Given the description of an element on the screen output the (x, y) to click on. 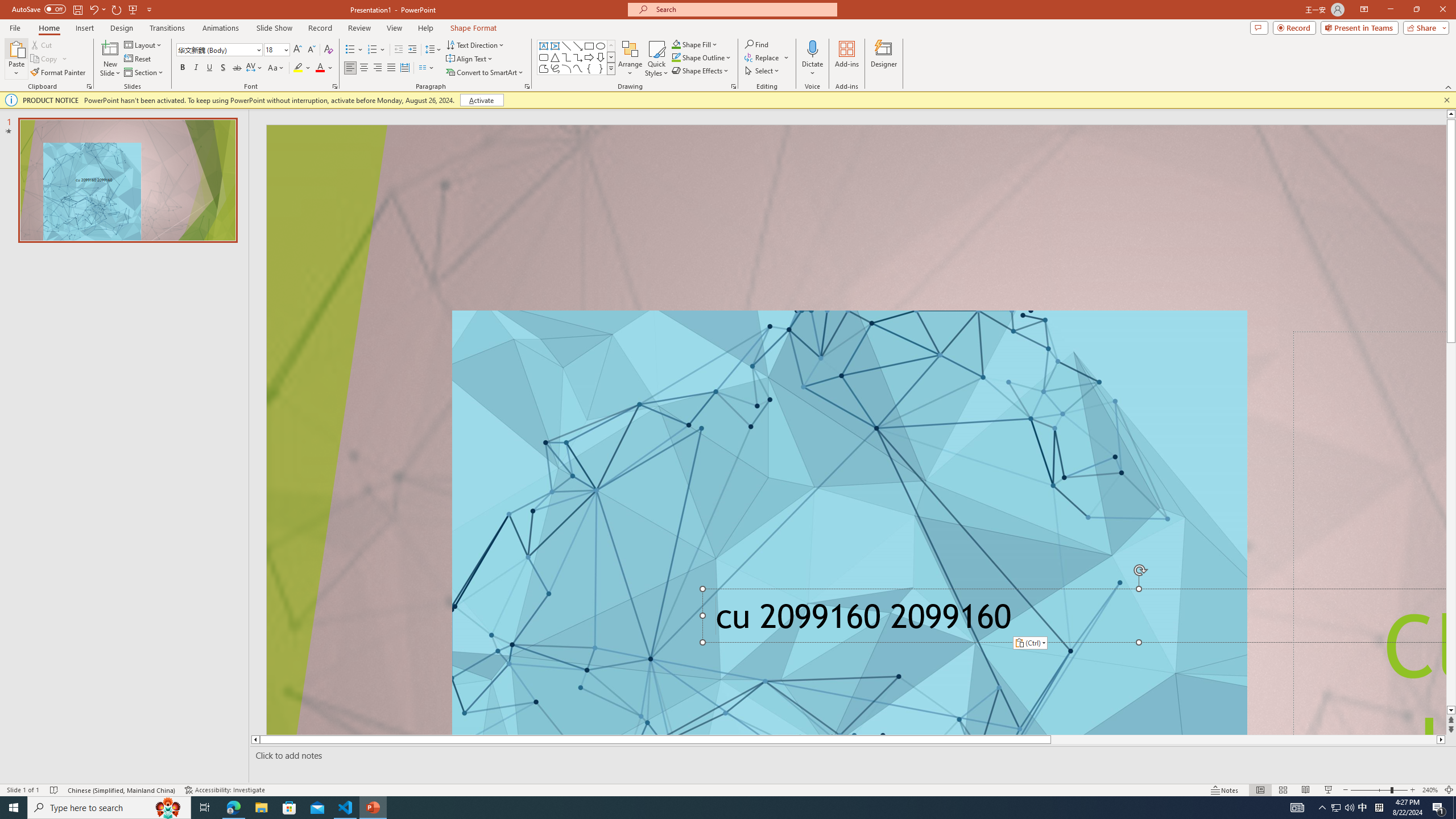
Shape Outline Dark Red, Accent 1 (675, 56)
